Given the description of an element on the screen output the (x, y) to click on. 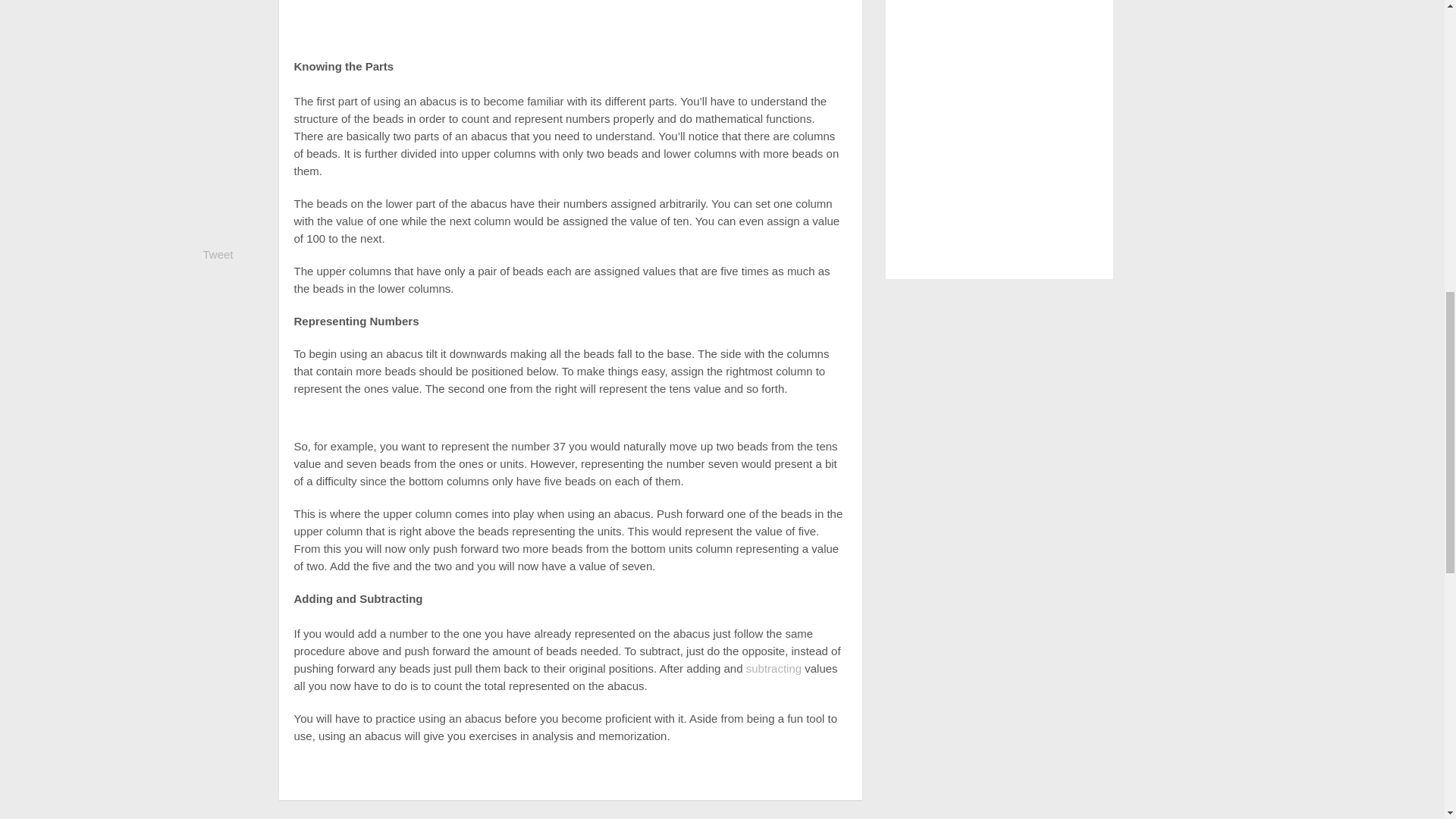
subtracting (773, 667)
Subtracting (773, 667)
Advertisement (569, 22)
